Given the description of an element on the screen output the (x, y) to click on. 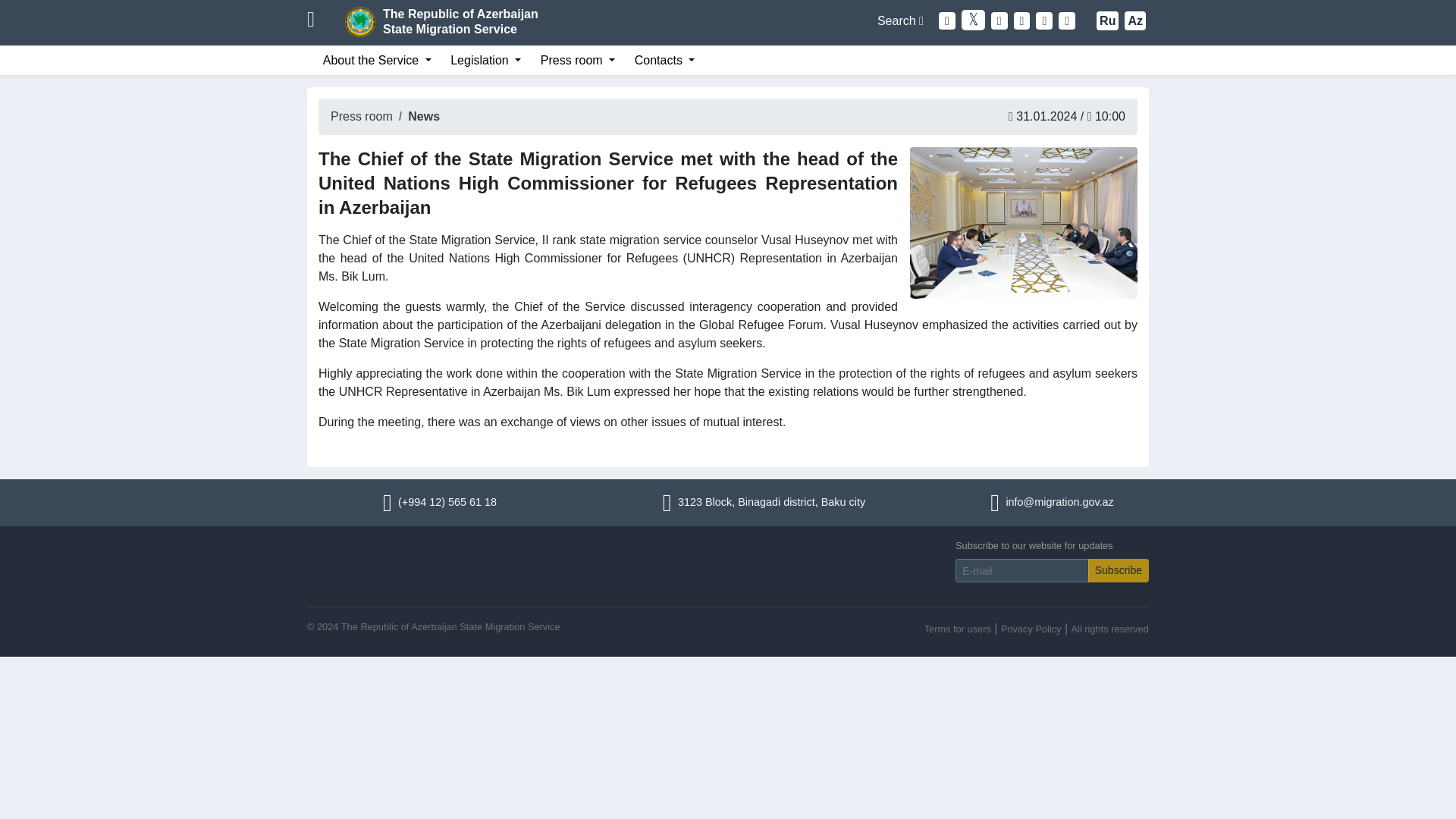
Search (900, 20)
Subscribe (1117, 570)
Az (1134, 20)
Ru (1107, 20)
